Given the description of an element on the screen output the (x, y) to click on. 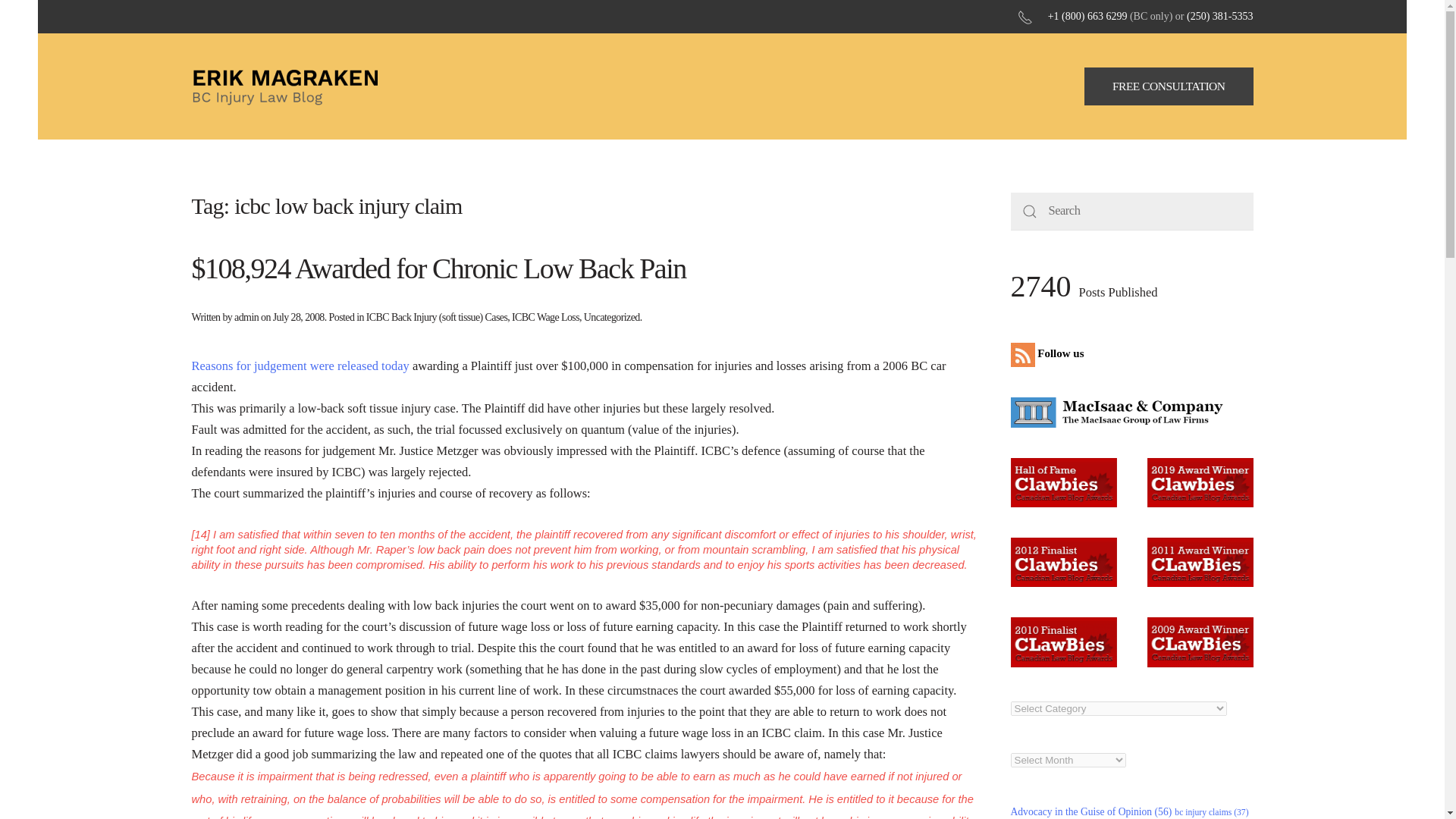
Uncategorized (611, 317)
Reasons for judgement were released today (299, 365)
ICBC Wage Loss (545, 317)
admin (246, 317)
FREE CONSULTATION (1168, 86)
Follow us (1050, 353)
